Given the description of an element on the screen output the (x, y) to click on. 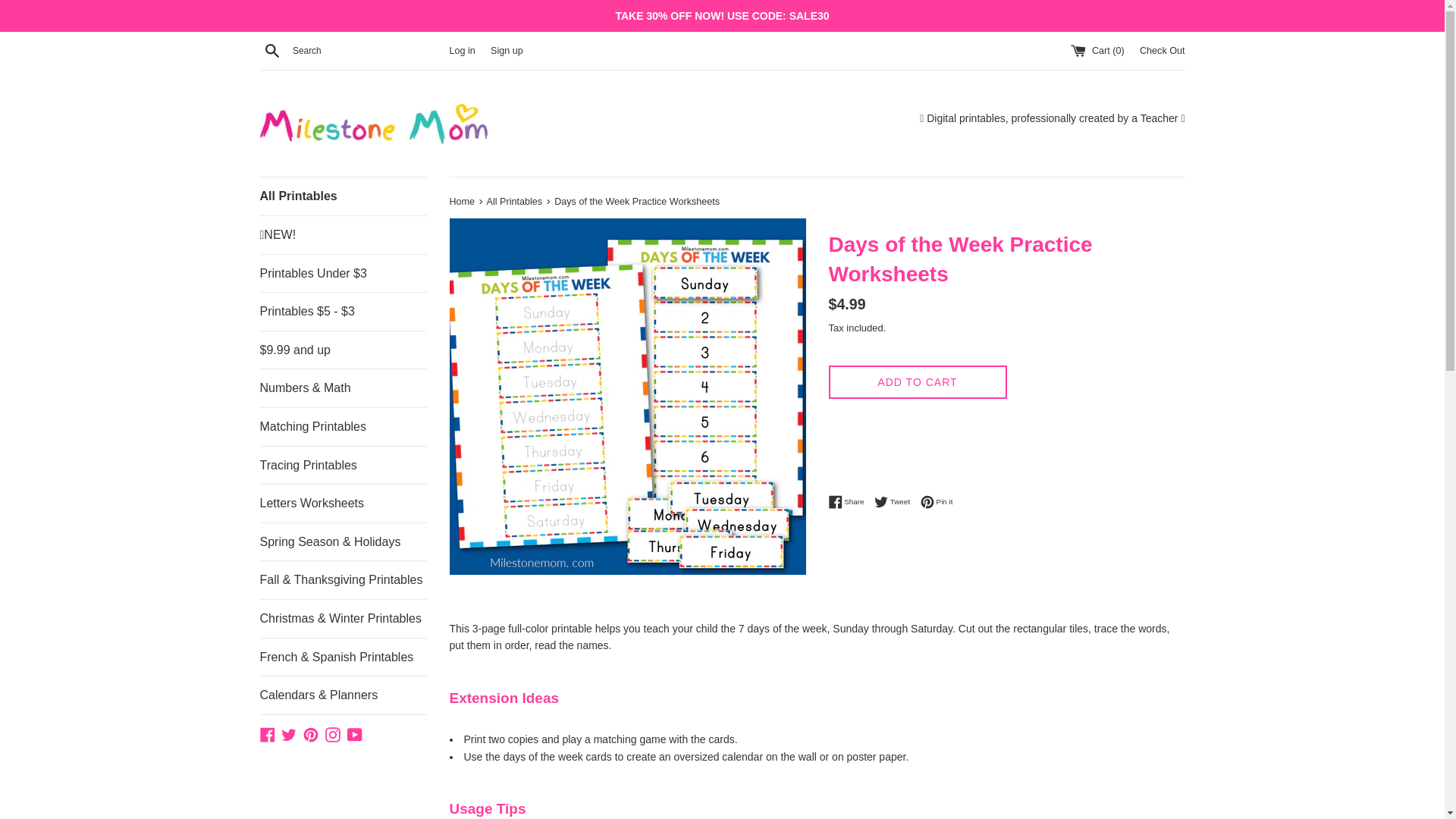
Back to the frontpage (462, 201)
Letters Worksheets (342, 503)
Instagram (849, 501)
Tracing Printables (332, 734)
All Printables (342, 465)
Milestone Mom LLC on Pinterest (515, 201)
Matching Printables (936, 501)
Milestone Mom LLC on Facebook (310, 734)
